Given the description of an element on the screen output the (x, y) to click on. 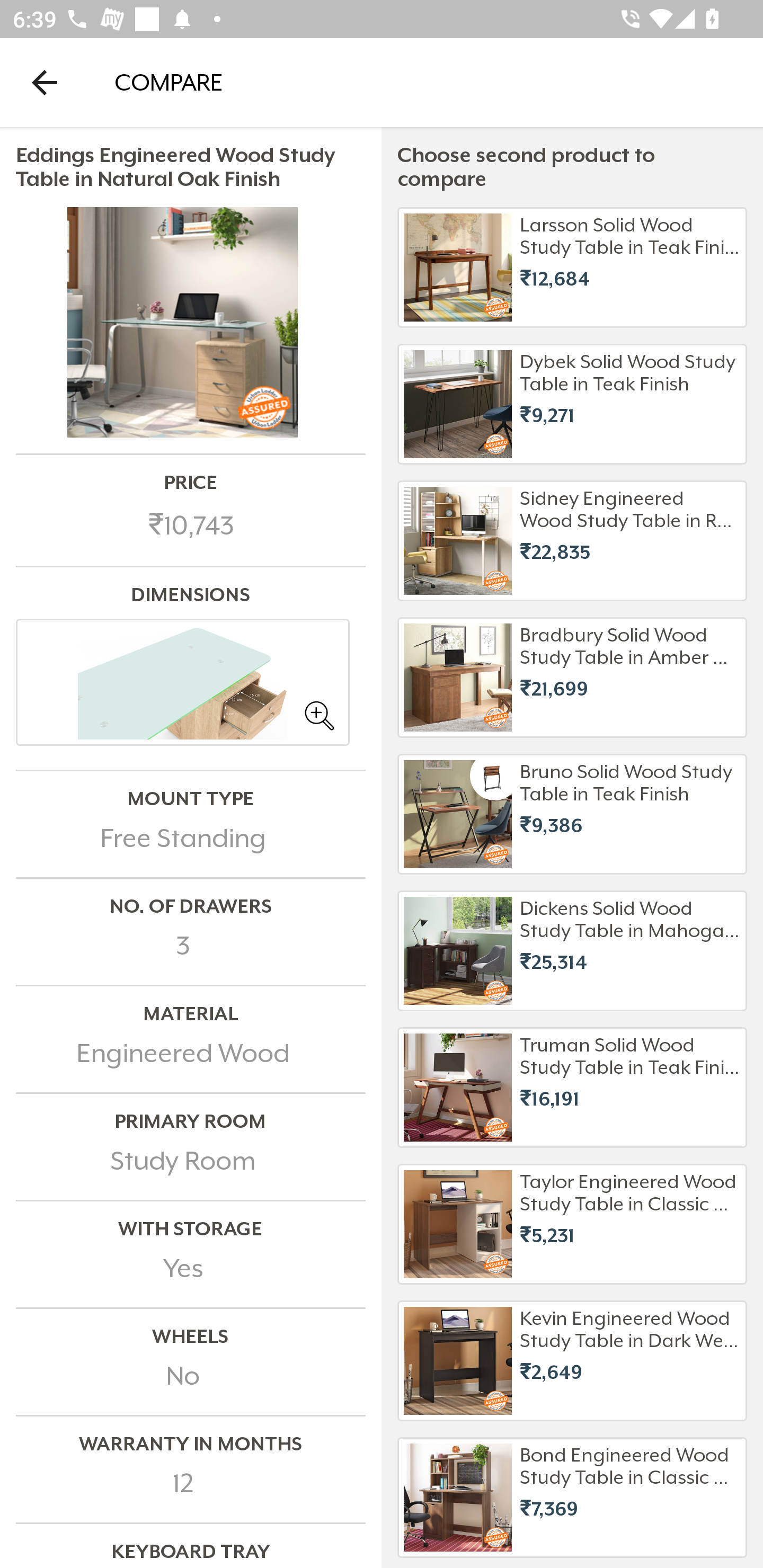
Navigate up (44, 82)
Dybek Solid Wood Study Table in Teak Finish ₹9,271 (571, 403)
Bruno Solid Wood Study Table in Teak Finish ₹9,386 (571, 814)
